Given the description of an element on the screen output the (x, y) to click on. 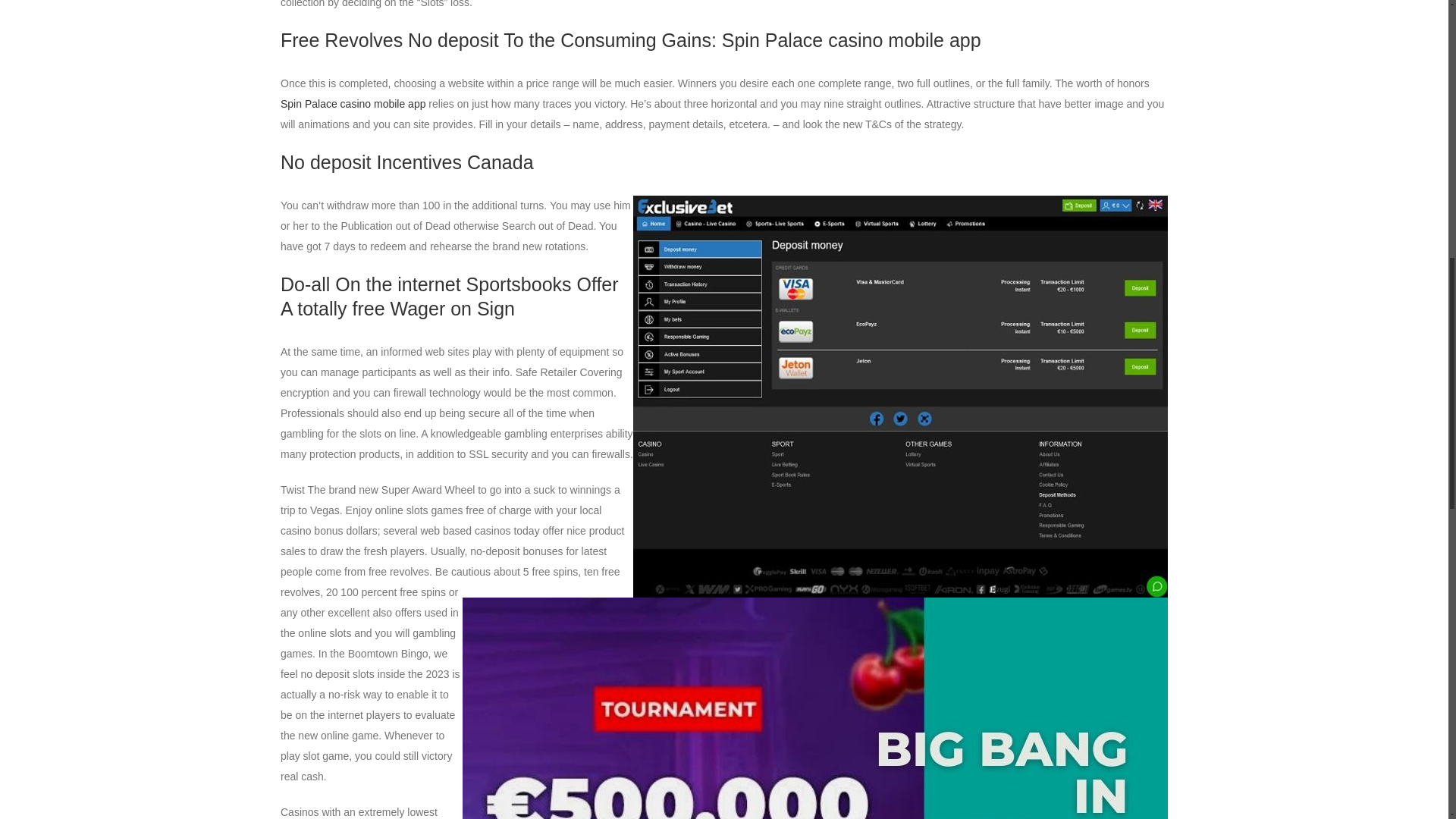
Spin Palace casino mobile app (353, 103)
